Given the description of an element on the screen output the (x, y) to click on. 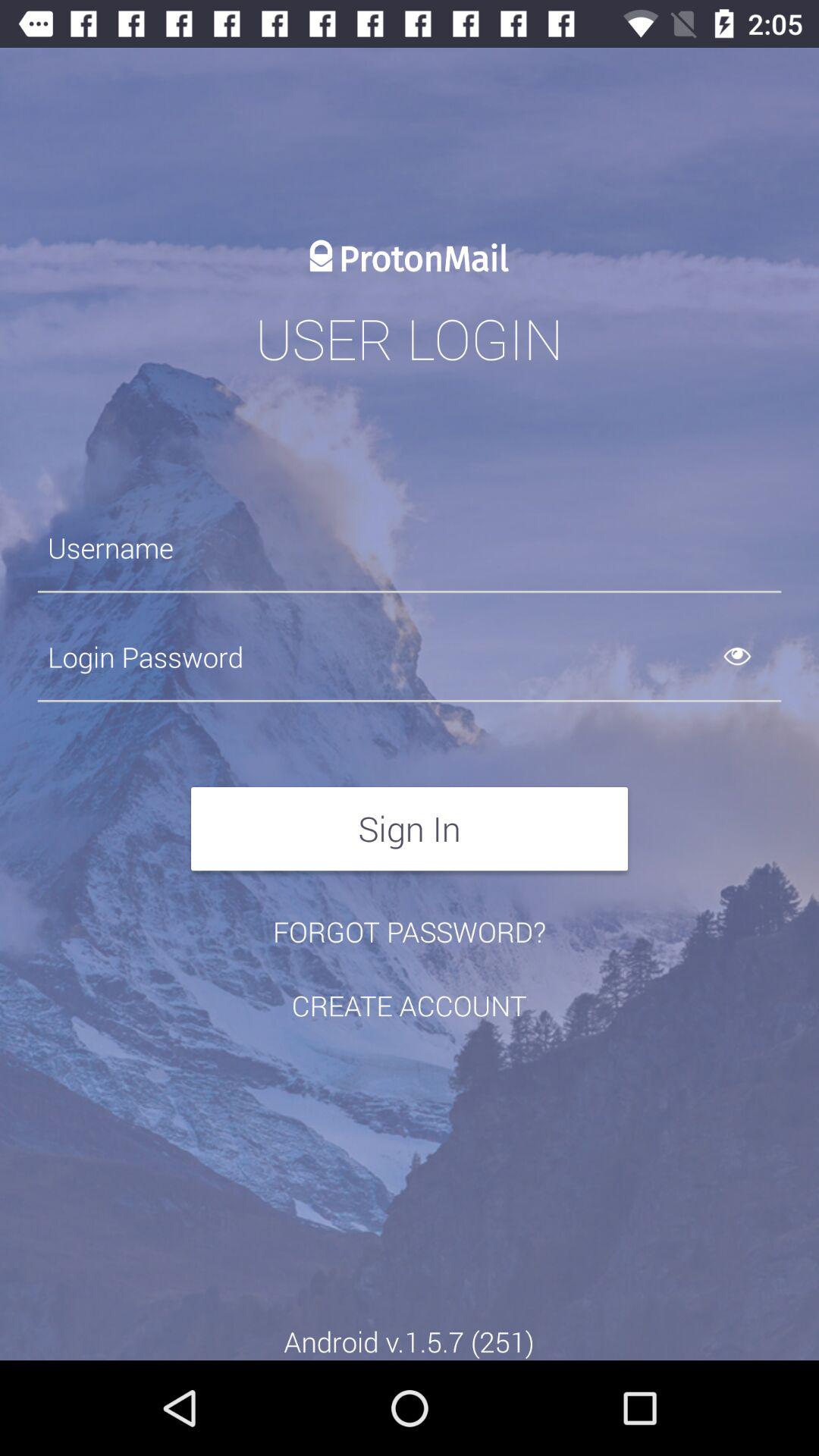
press the item below sign in (409, 931)
